Given the description of an element on the screen output the (x, y) to click on. 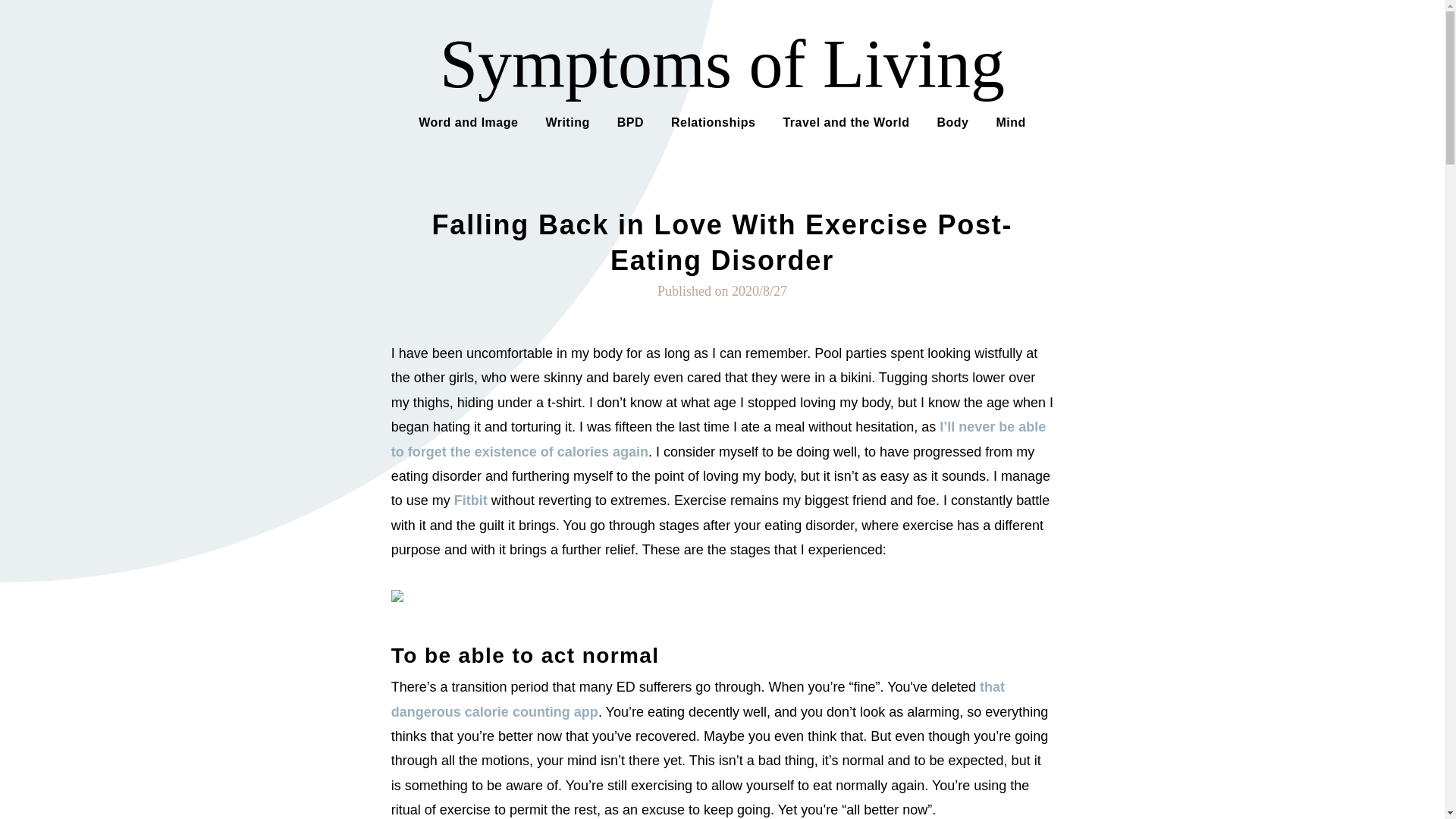
Symptoms of Living (722, 64)
Fitbit (470, 500)
Symptoms of Living (722, 64)
Word and Image (468, 122)
that dangerous calorie counting app (697, 699)
Travel and the World (845, 122)
BPD (630, 122)
Relationships (713, 122)
Body (951, 122)
Writing (566, 122)
